Given the description of an element on the screen output the (x, y) to click on. 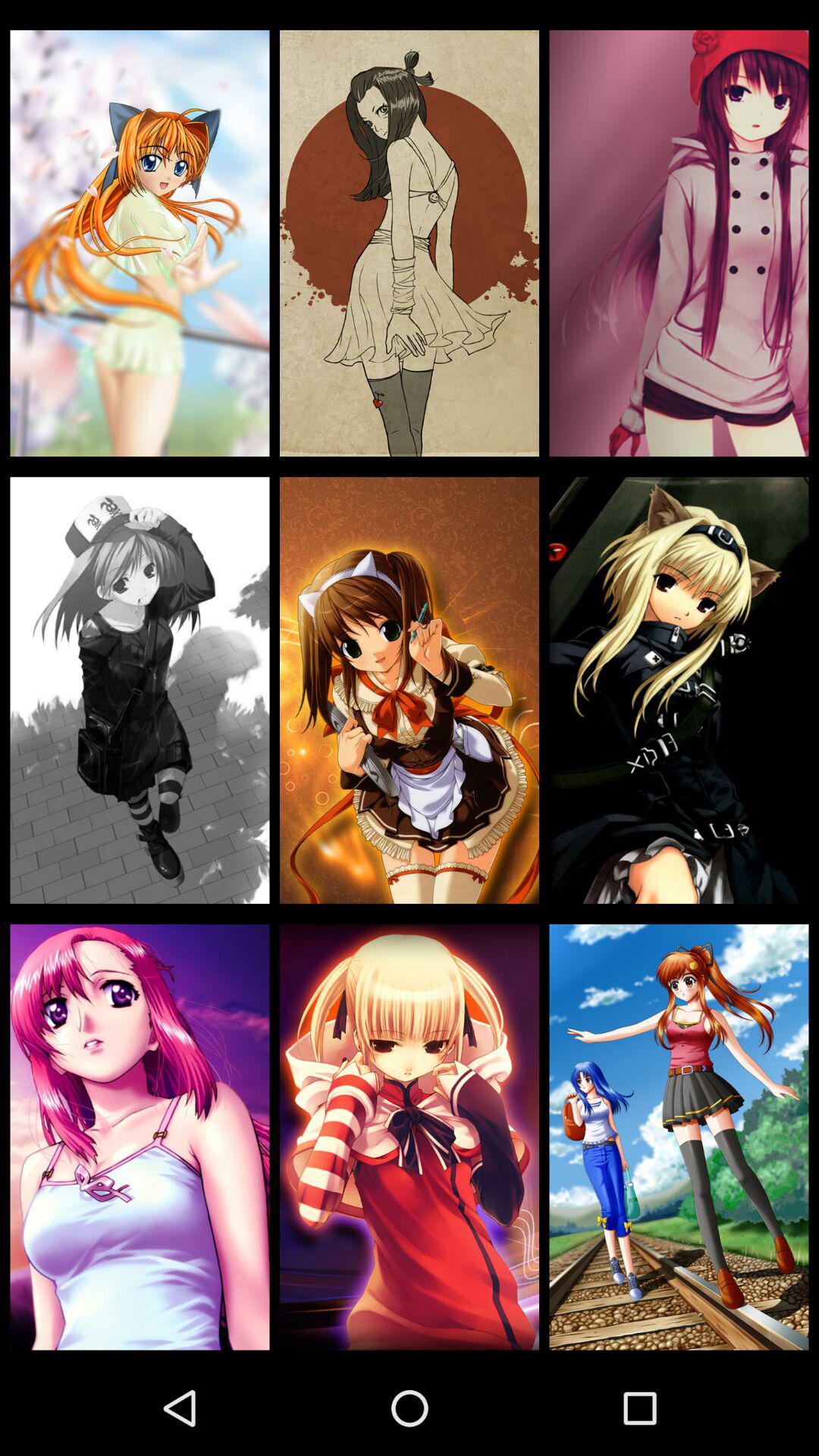
launch the item at the top left corner (139, 243)
